Given the description of an element on the screen output the (x, y) to click on. 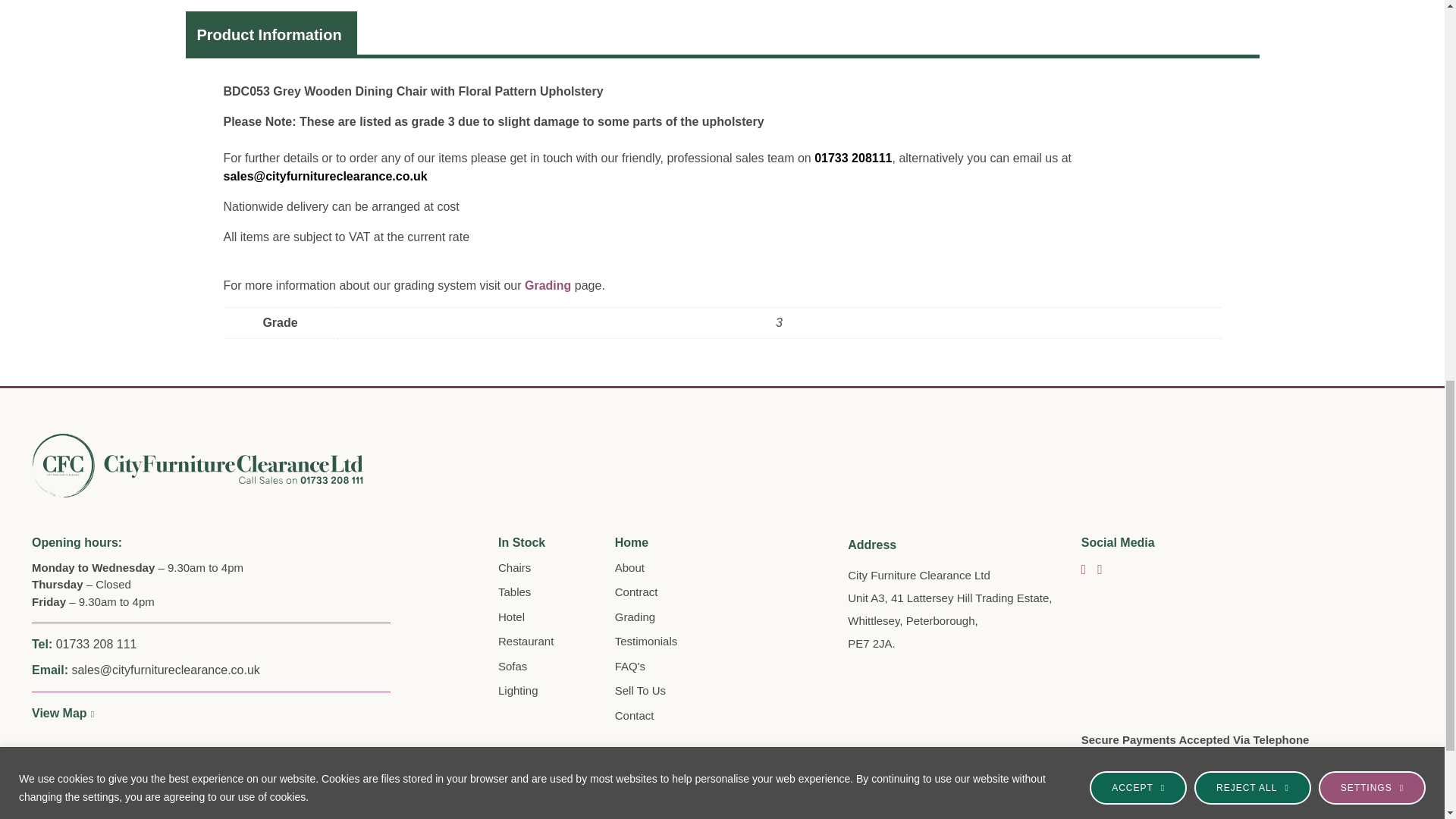
email (852, 157)
email (324, 175)
